Given the description of an element on the screen output the (x, y) to click on. 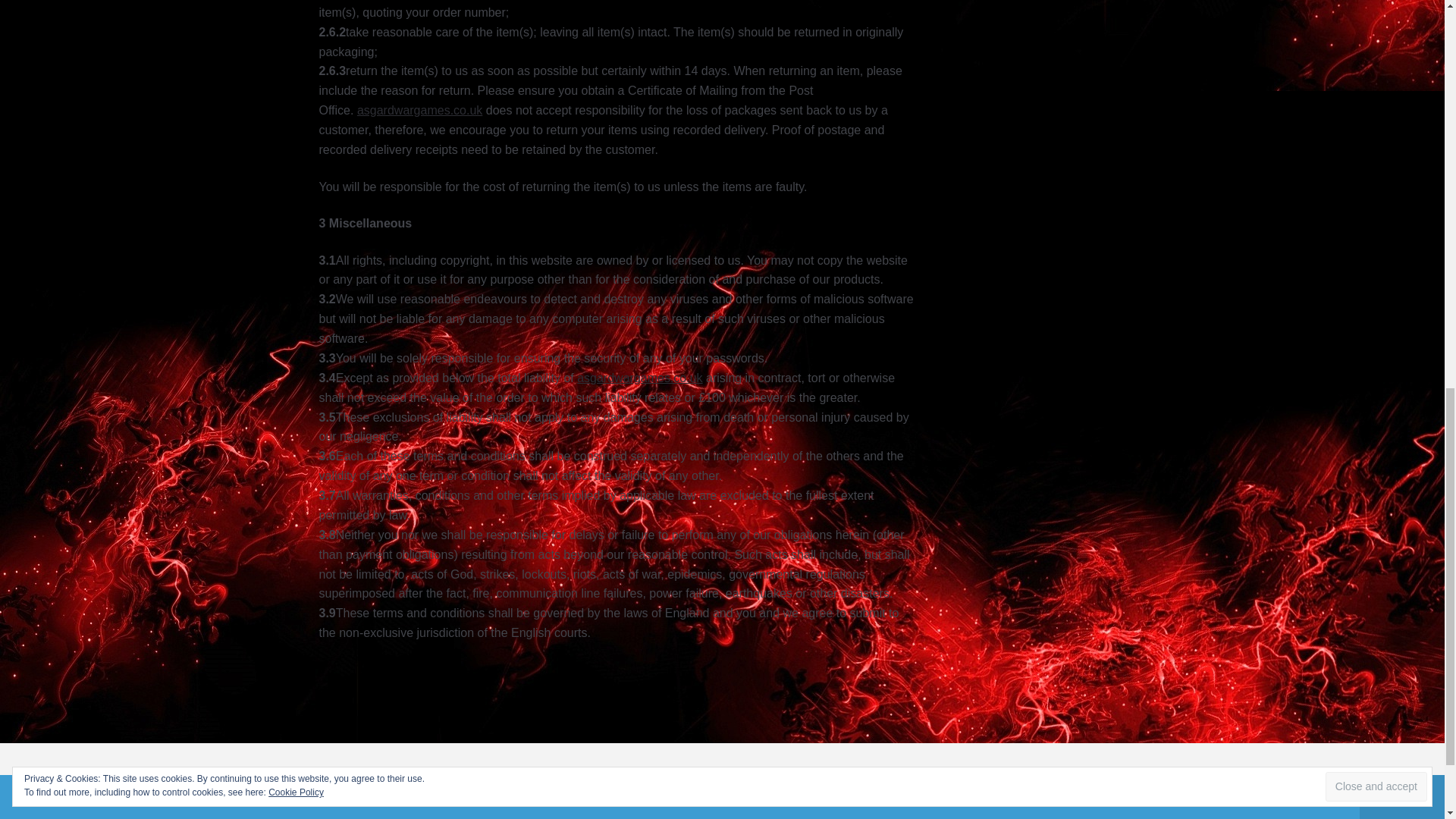
Privacy (338, 818)
asgardwargames.co.uk (418, 110)
asgardwargames.co.uk (638, 377)
